Given the description of an element on the screen output the (x, y) to click on. 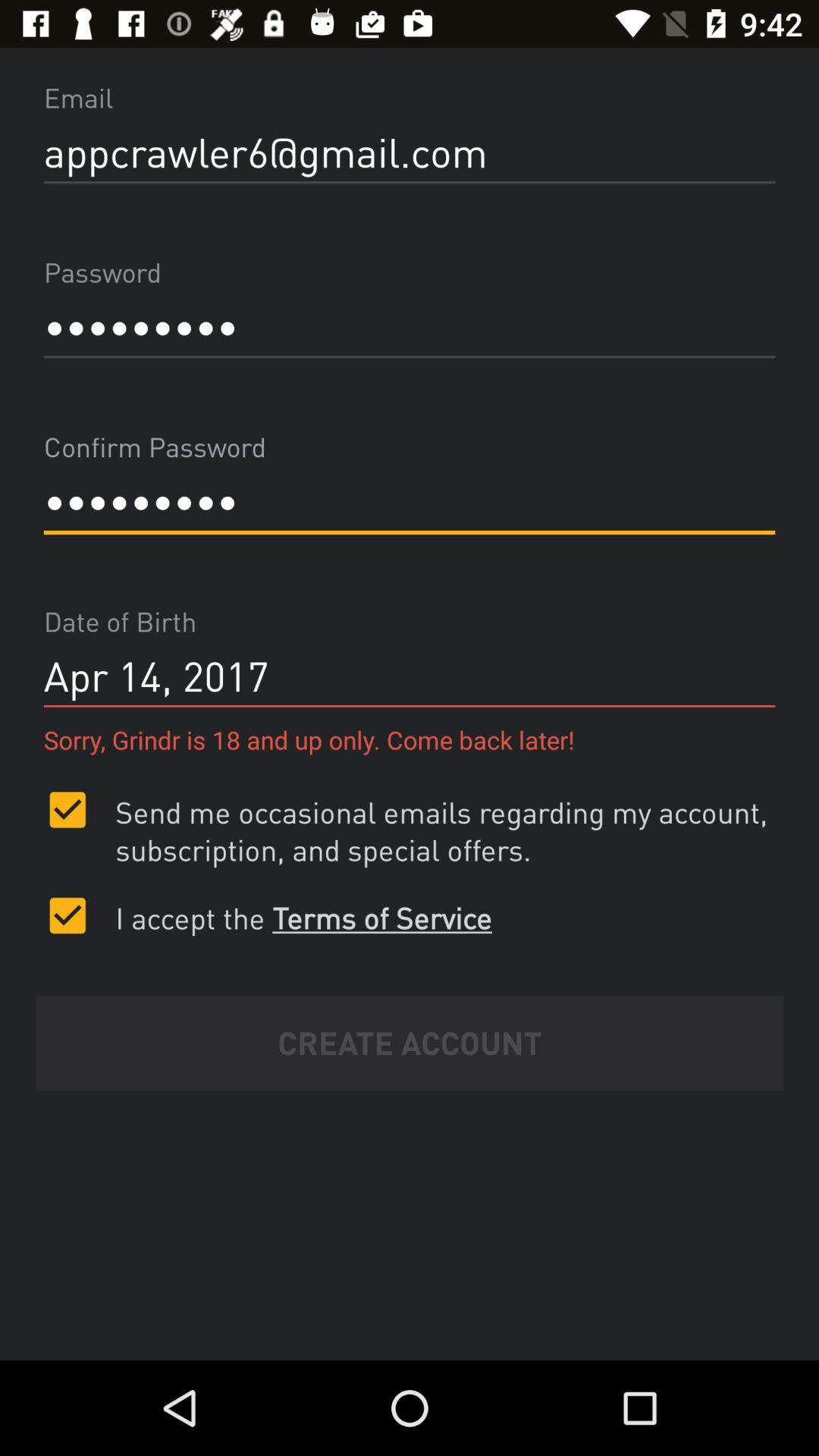
ok select button (67, 915)
